Given the description of an element on the screen output the (x, y) to click on. 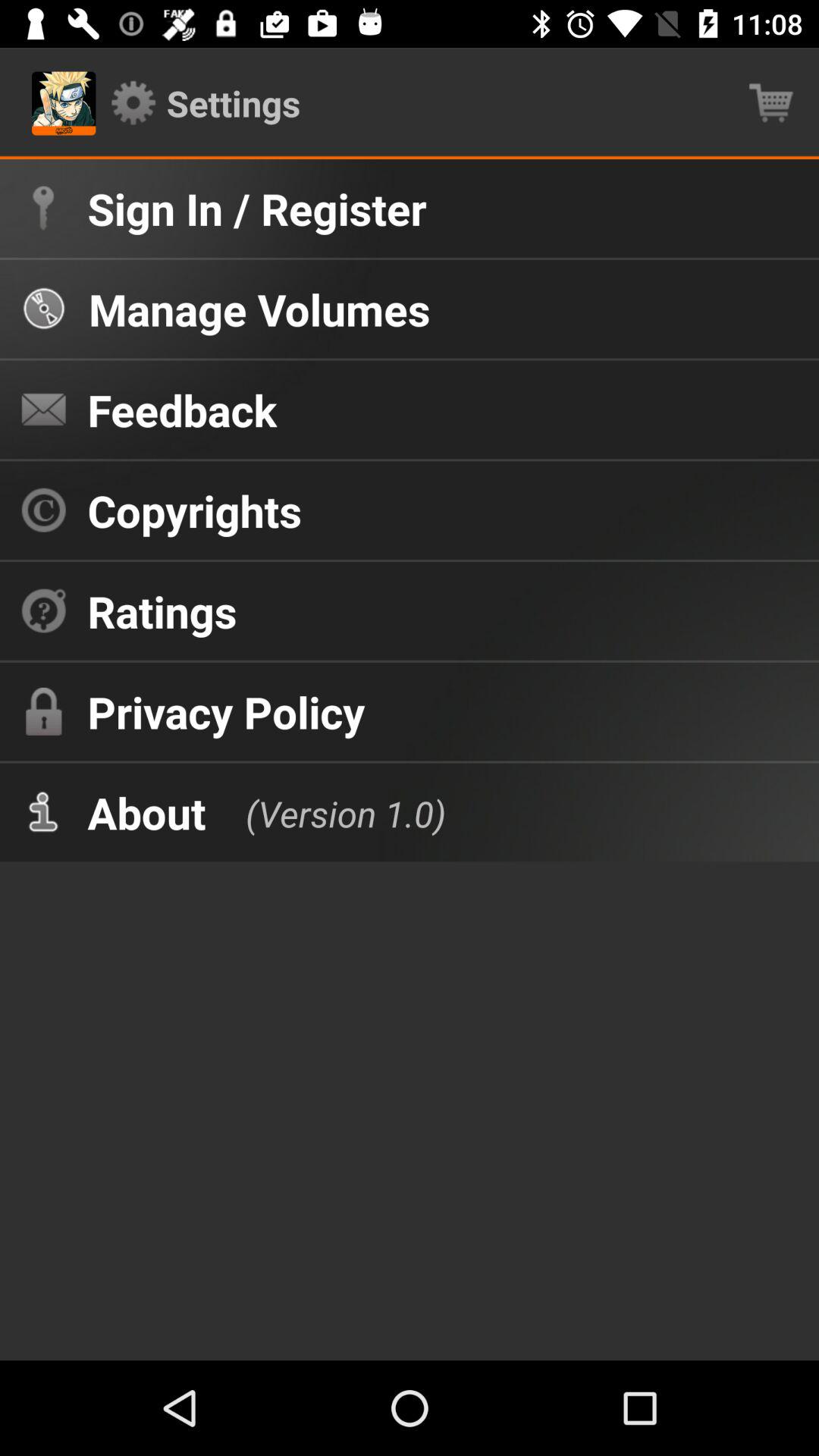
choose the item above the manage volumes item (256, 208)
